Given the description of an element on the screen output the (x, y) to click on. 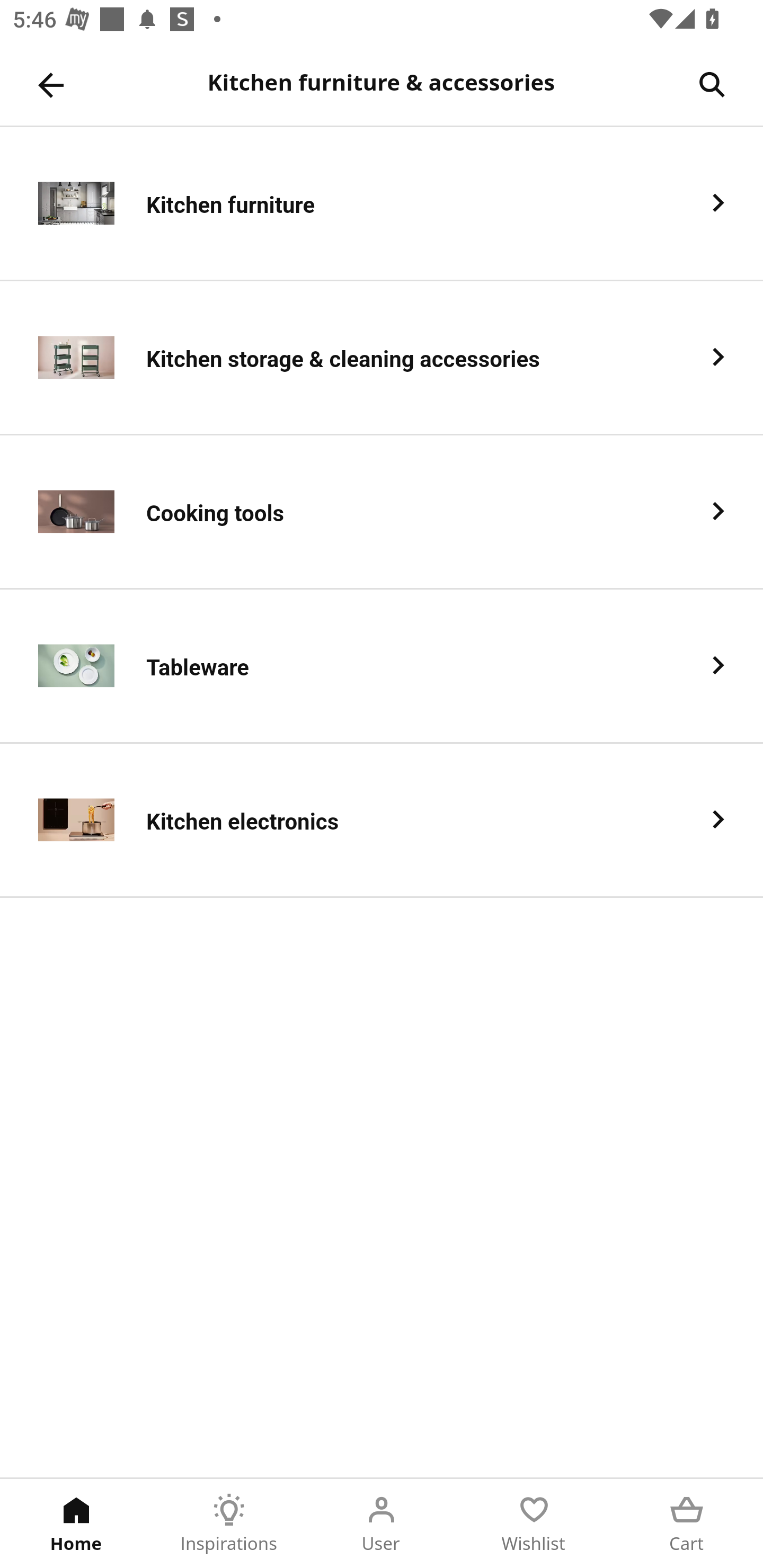
Kitchen furniture (381, 203)
Kitchen storage & cleaning accessories (381, 357)
Cooking tools  (381, 512)
Tableware (381, 666)
Kitchen electronics (381, 820)
Home
Tab 1 of 5 (76, 1522)
Inspirations
Tab 2 of 5 (228, 1522)
User
Tab 3 of 5 (381, 1522)
Wishlist
Tab 4 of 5 (533, 1522)
Cart
Tab 5 of 5 (686, 1522)
